Given the description of an element on the screen output the (x, y) to click on. 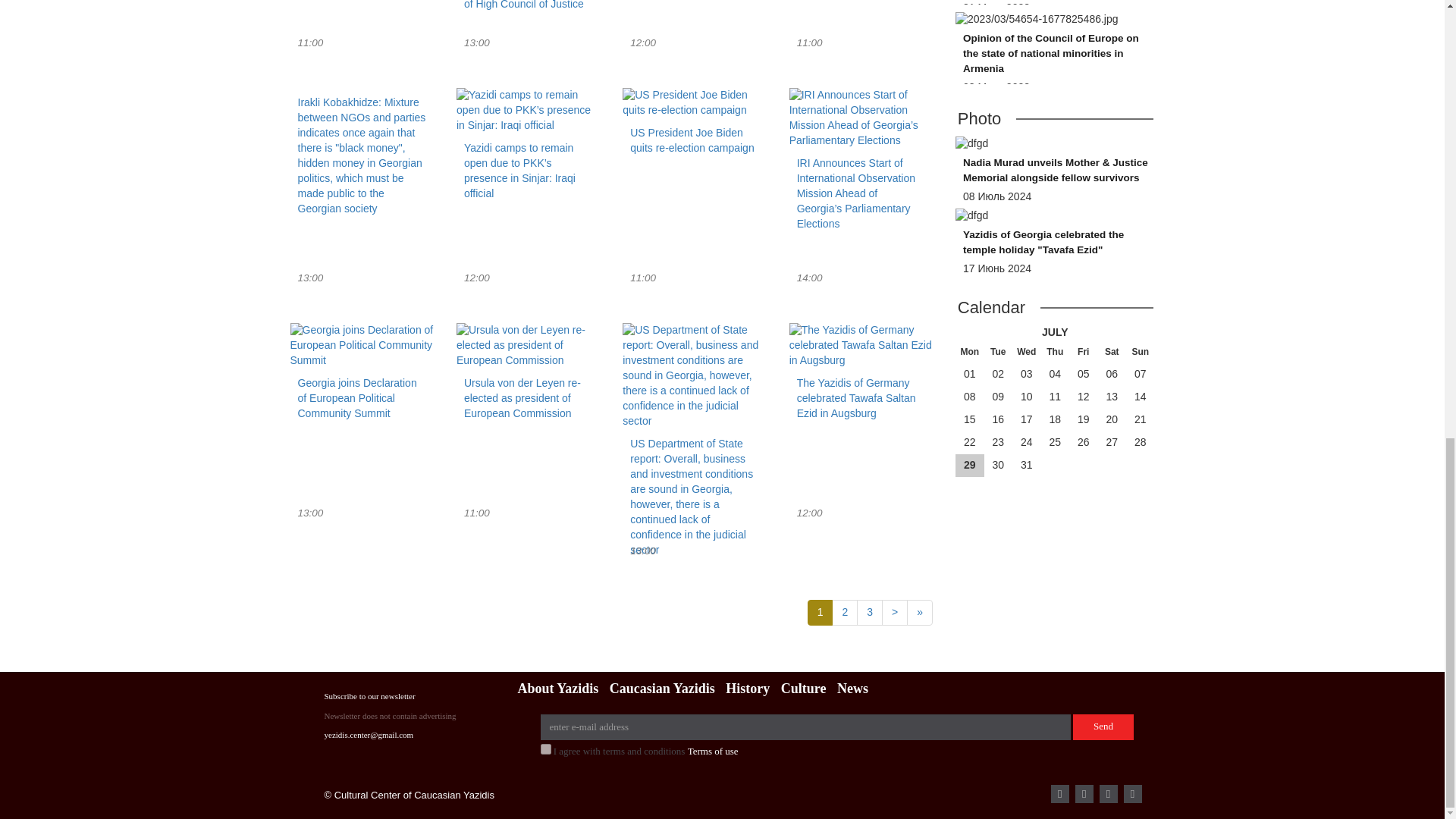
Last (920, 612)
1 (545, 748)
Next (894, 612)
Page 2 (844, 612)
Page 3 (869, 612)
Send (694, 125)
